Given the description of an element on the screen output the (x, y) to click on. 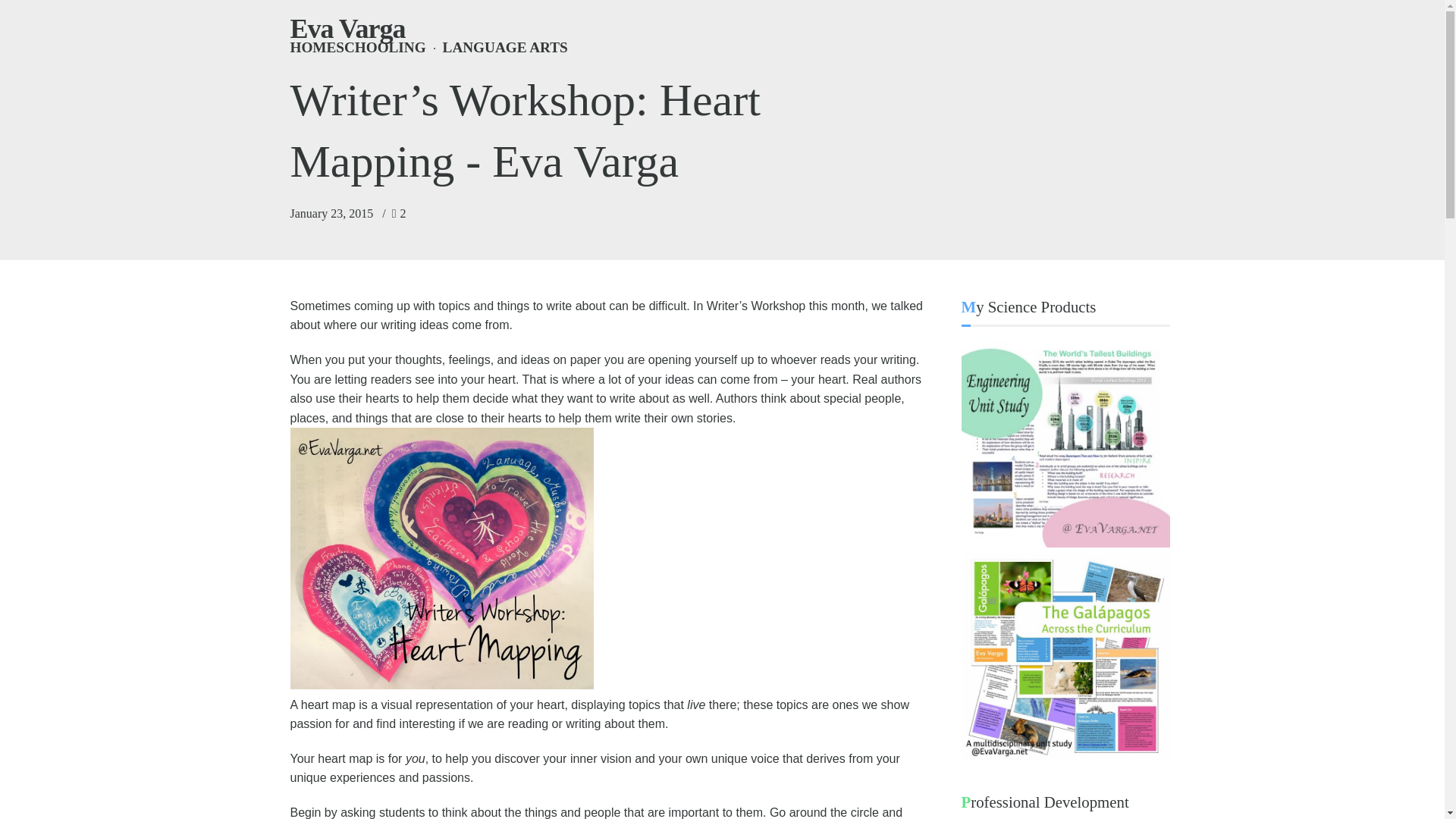
Eva Varga (346, 28)
LANGUAGE ARTS (496, 47)
HOMESCHOOLING (357, 47)
